Given the description of an element on the screen output the (x, y) to click on. 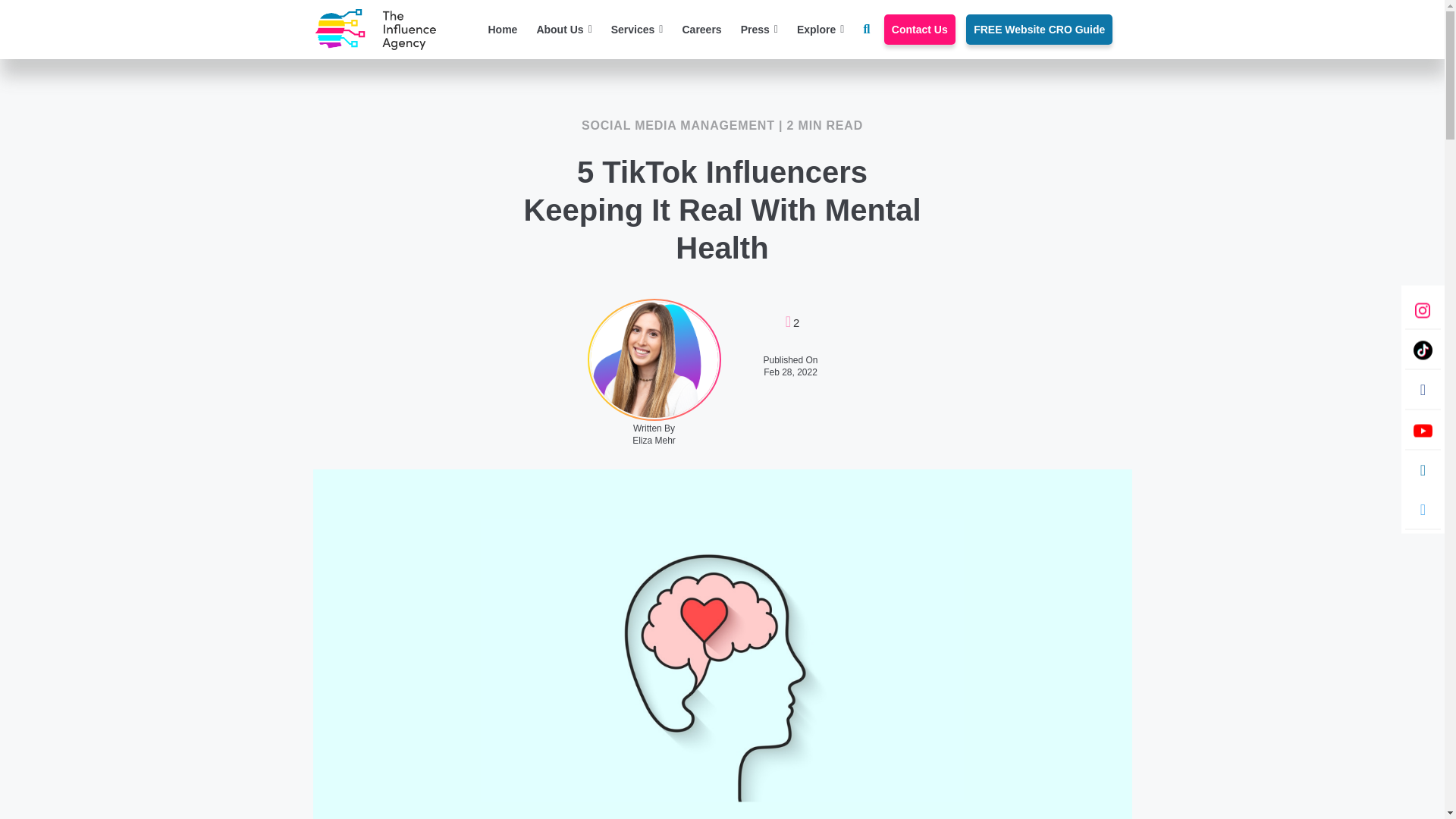
Services (637, 29)
Home (502, 29)
About Us (563, 29)
